Given the description of an element on the screen output the (x, y) to click on. 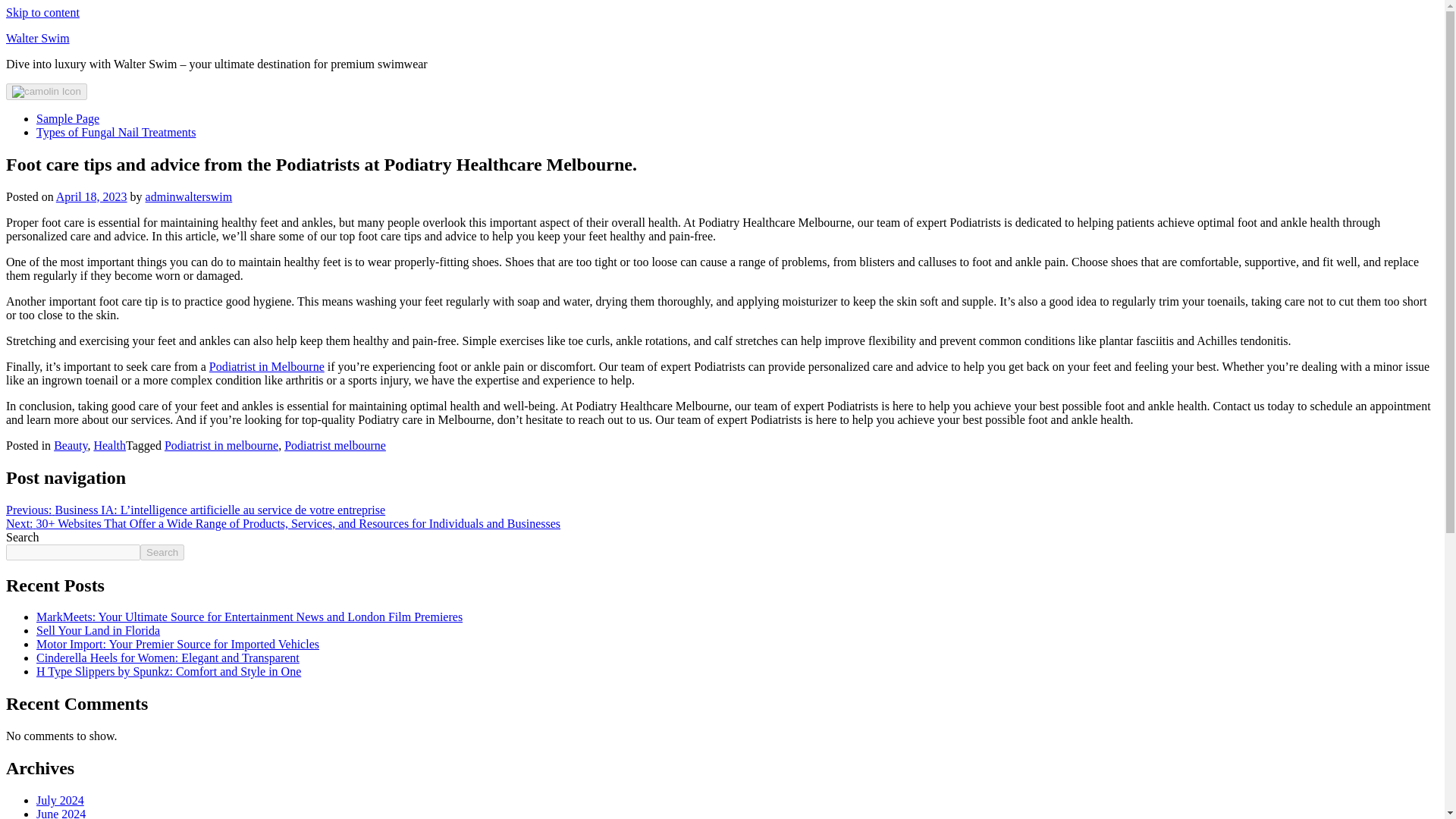
Cinderella Heels for Women: Elegant and Transparent (167, 657)
H Type Slippers by Spunkz: Comfort and Style in One (168, 671)
Health (109, 445)
Skip to content (42, 11)
Podiatrist in melbourne (221, 445)
Sample Page (67, 118)
June 2024 (60, 813)
Sell Your Land in Florida (98, 630)
adminwalterswim (188, 196)
Motor Import: Your Premier Source for Imported Vehicles (177, 644)
April 18, 2023 (92, 196)
Types of Fungal Nail Treatments (115, 132)
Beauty (70, 445)
Search (161, 552)
